Given the description of an element on the screen output the (x, y) to click on. 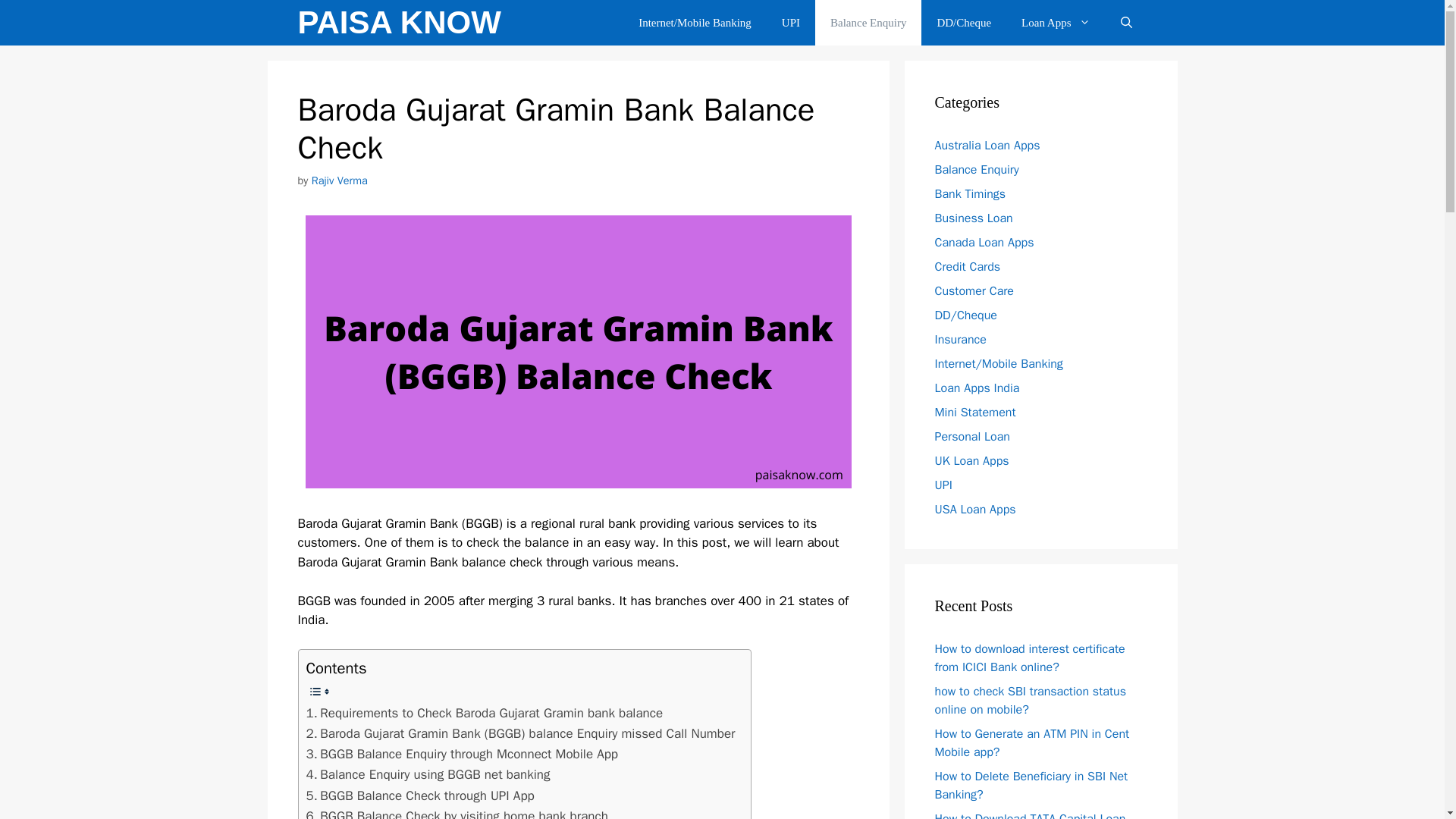
View all posts by Rajiv Verma (339, 180)
UPI (791, 22)
BGGB Balance Enquiry through Mconnect Mobile App (461, 753)
PAISA KNOW (398, 22)
Balance Enquiry (868, 22)
Loan Apps (1055, 22)
Balance Enquiry using BGGB net banking (427, 774)
Requirements to Check Baroda Gujarat Gramin bank balance (484, 712)
BGGB Balance Check through UPI App (419, 795)
BGGB Balance Check by visiting home bank branch (456, 812)
BGGB Balance Check by visiting home bank branch (456, 812)
BGGB Balance Enquiry through Mconnect Mobile App (461, 753)
Balance Enquiry using BGGB net banking (427, 774)
Requirements to Check Baroda Gujarat Gramin bank balance (484, 712)
BGGB Balance Check through UPI App (419, 795)
